Given the description of an element on the screen output the (x, y) to click on. 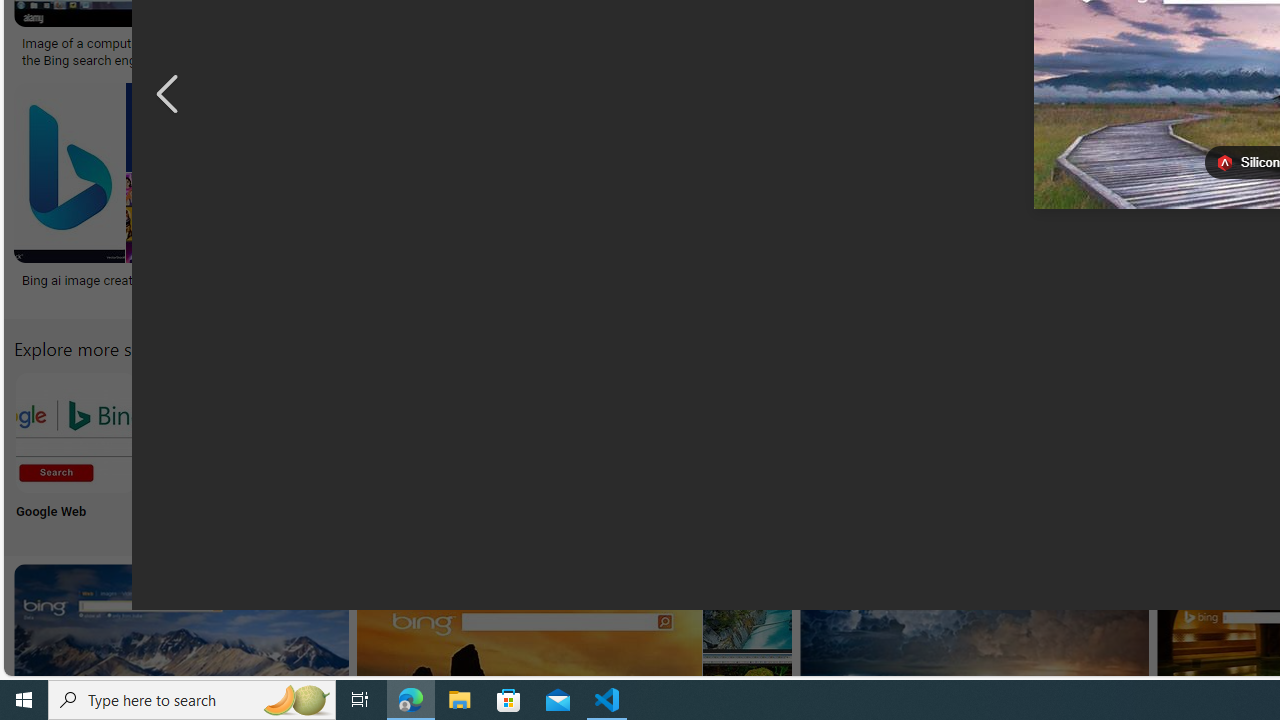
Bing Search App Icon App Icon (735, 450)
Bing Search Dark Mode (604, 432)
Image Search Bing Engine (347, 44)
Download Bing Pictures | Wallpapers.com (1046, 44)
Bing Search Dark Mode Dark Mode (604, 450)
Internet Explorer Bing Search (339, 432)
Bing ai image creator (82, 279)
Bing ai image creator (114, 279)
Bing Search App Logo App Logo (207, 450)
Internet Explorer (339, 450)
Dark Mode (604, 450)
Internet Explorer Bing Search Internet Explorer (339, 450)
